Given the description of an element on the screen output the (x, y) to click on. 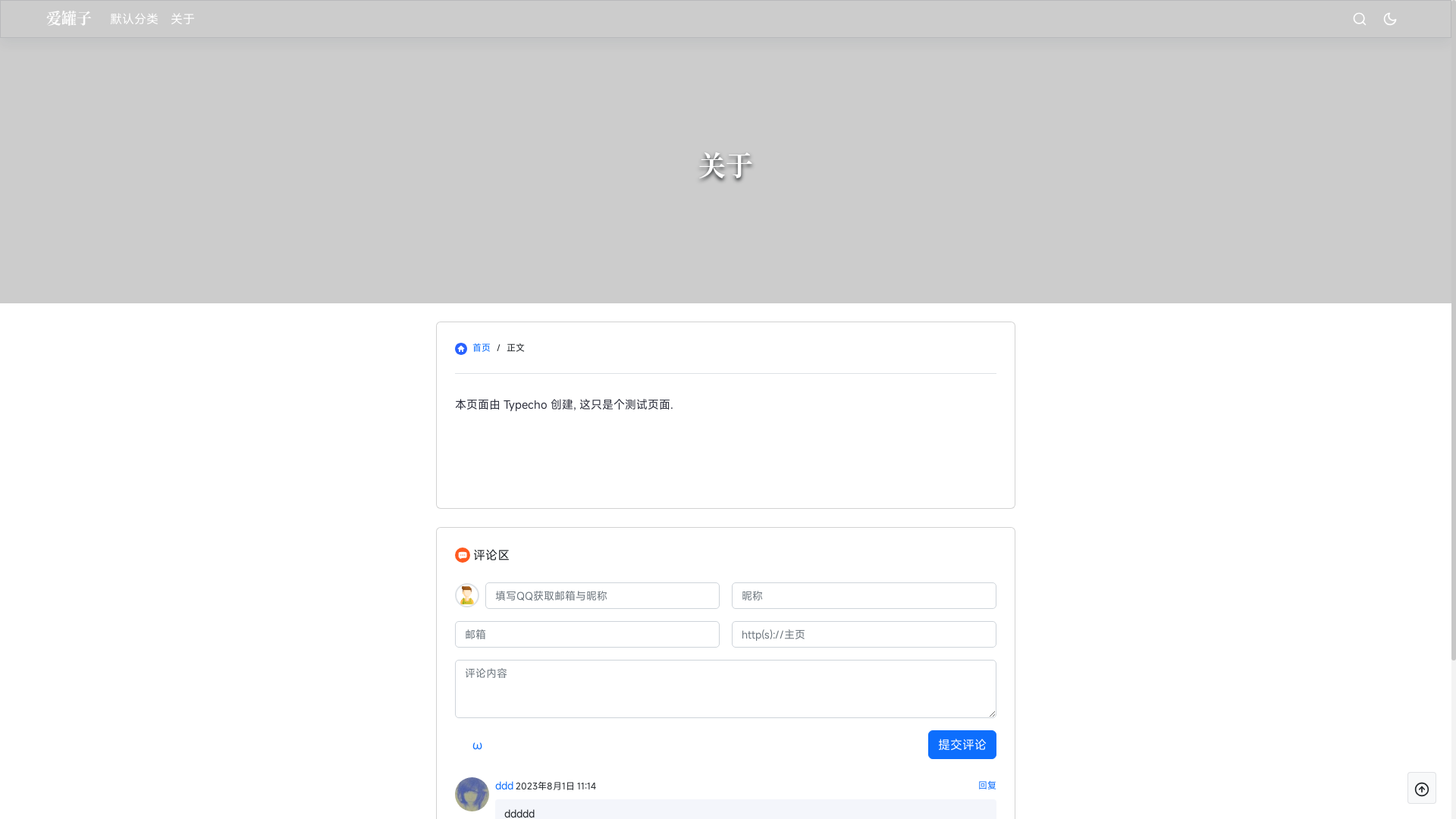
0 Element type: text (1389, 18)
ddd Element type: text (504, 785)
